Given the description of an element on the screen output the (x, y) to click on. 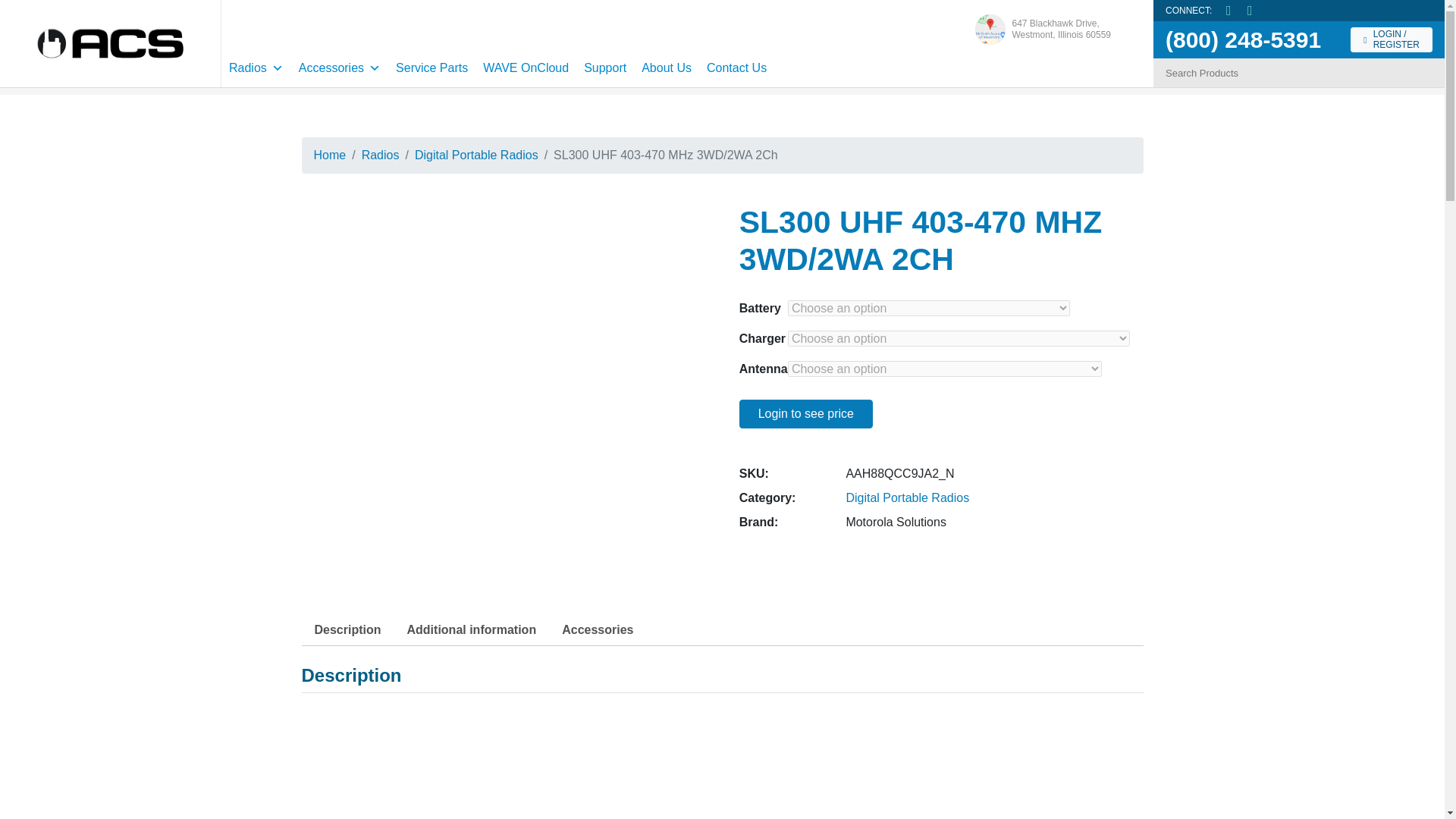
LMR Distributing (110, 42)
Call Us Today (1243, 39)
WAVE OnCloud (526, 67)
Service Parts (1042, 28)
Accessories (432, 67)
Login to your account (339, 67)
Google Map Location (1391, 39)
Radios (1042, 28)
